Given the description of an element on the screen output the (x, y) to click on. 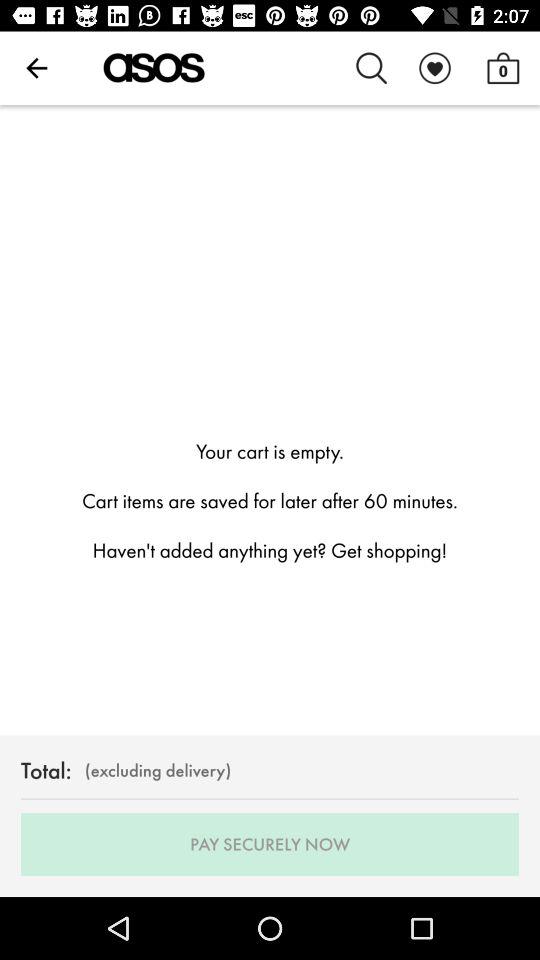
turn on the item above your cart is icon (36, 68)
